Given the description of an element on the screen output the (x, y) to click on. 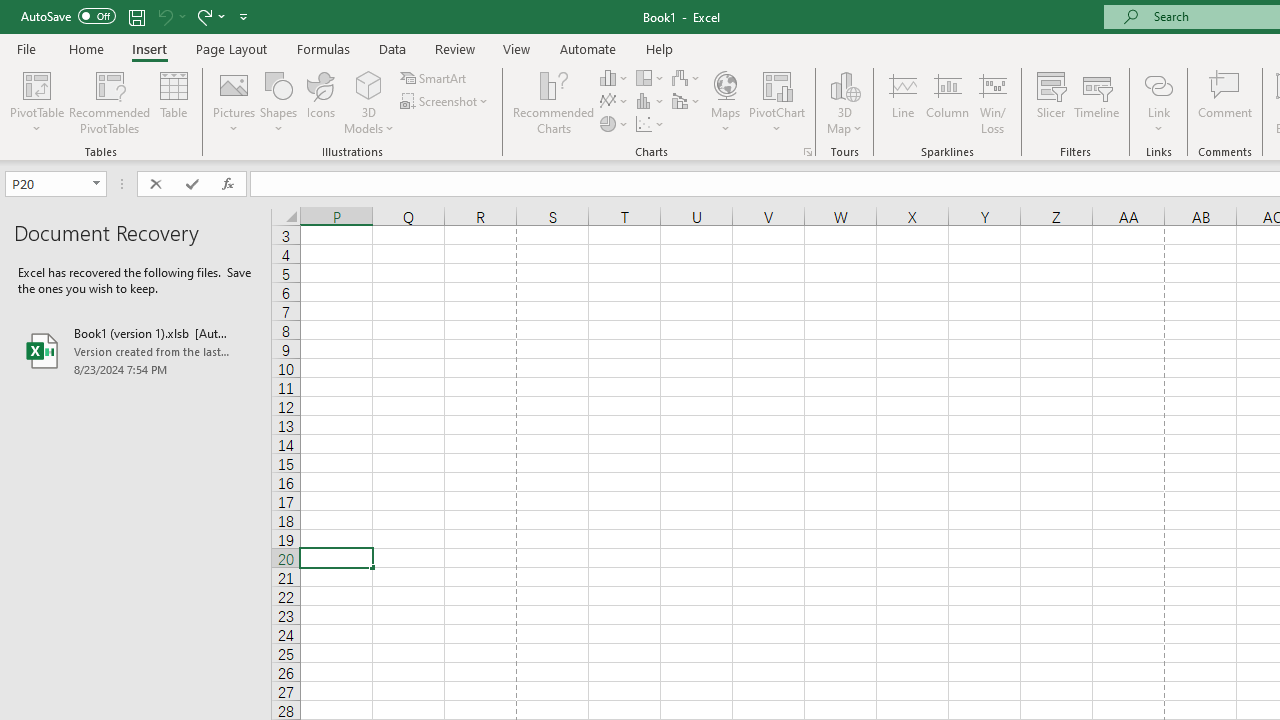
3D Models (368, 84)
Insert Combo Chart (687, 101)
Screenshot (445, 101)
PivotTable (36, 102)
Maps (726, 102)
PivotChart (777, 84)
3D Map (845, 84)
Insert Scatter (X, Y) or Bubble Chart (651, 124)
PivotTable (36, 84)
Recommended Charts (808, 151)
